Given the description of an element on the screen output the (x, y) to click on. 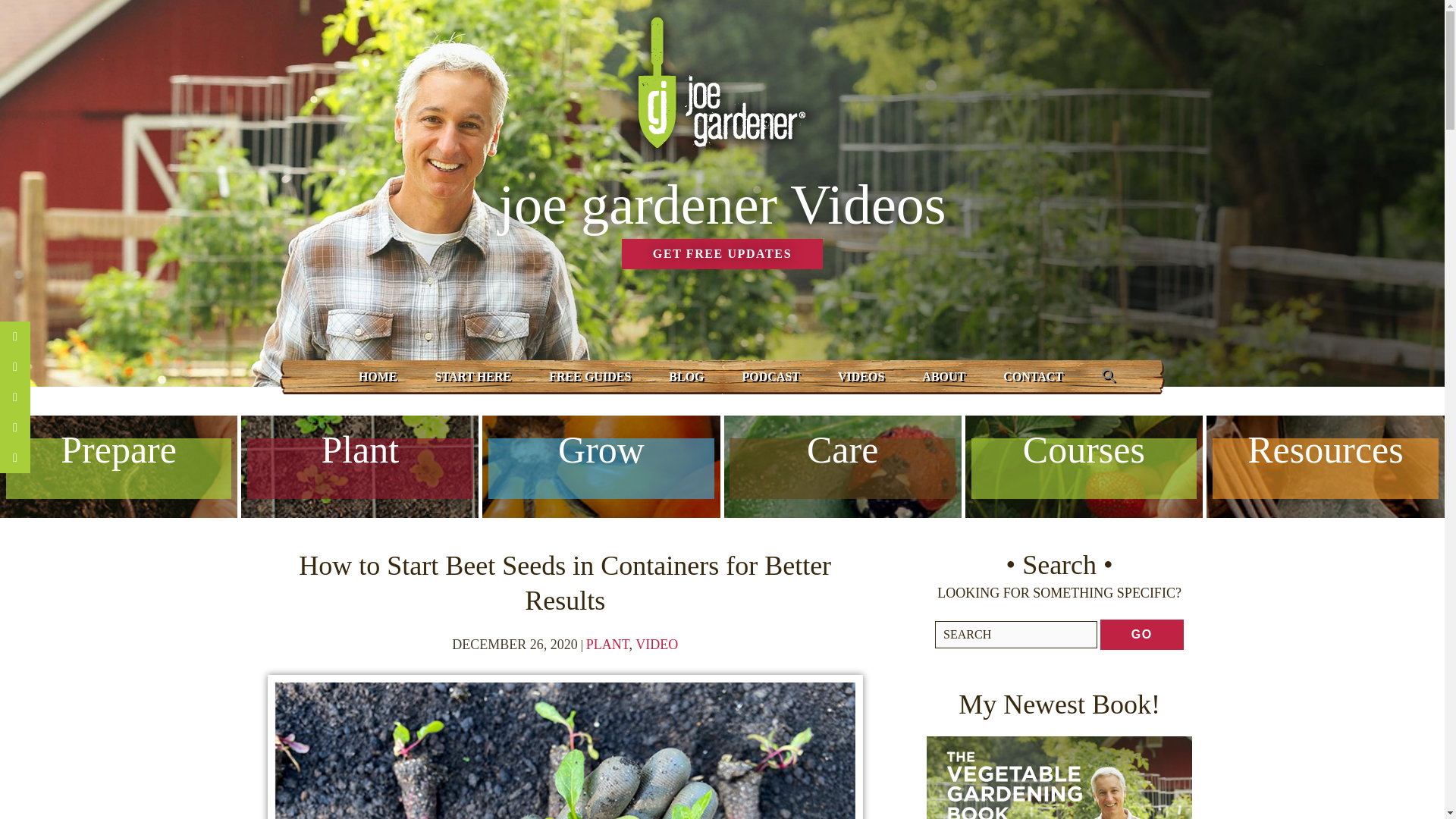
Care (841, 500)
PODCAST (770, 376)
FREE GUIDES (589, 376)
GET FREE UPDATES (721, 254)
VIDEOS (860, 376)
BLOG (685, 376)
ABOUT (943, 376)
VIDEO (656, 644)
PLANT (607, 644)
Grow (600, 500)
